Given the description of an element on the screen output the (x, y) to click on. 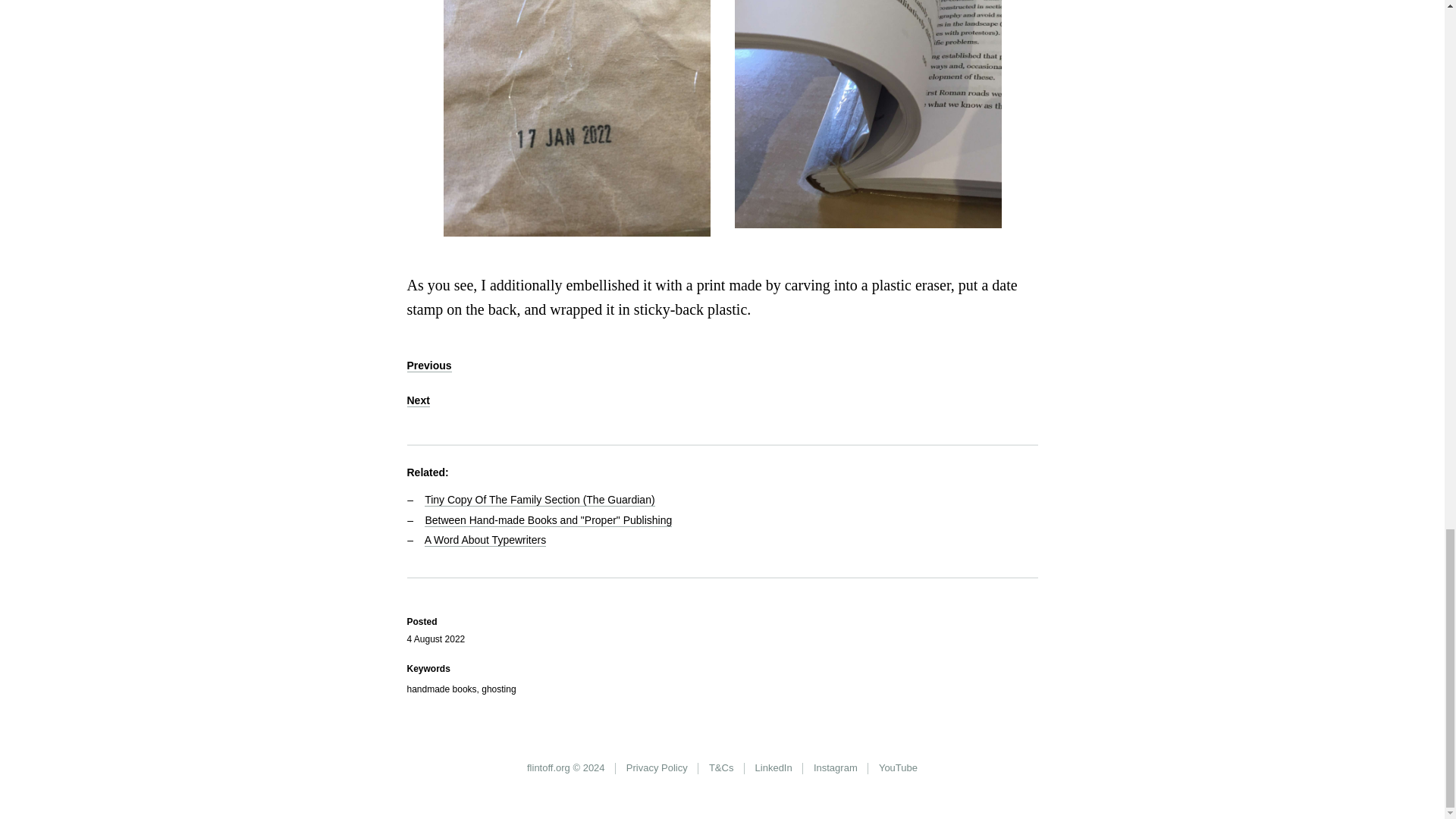
Instagram (835, 768)
LinkedIn (773, 768)
Privacy Policy (656, 768)
Previous (428, 365)
Between Hand-made Books and "Proper" Publishing (548, 520)
A Cheerful Picture, Based On A Classic (428, 365)
John-Paul Flintoff on Instagram (835, 768)
Next (417, 400)
A Word About Typewriters (486, 540)
John-Paul Flintoff on LinkedIn (773, 768)
YouTube (897, 768)
John-Paul Flintoff on YouTube (897, 768)
